Given the description of an element on the screen output the (x, y) to click on. 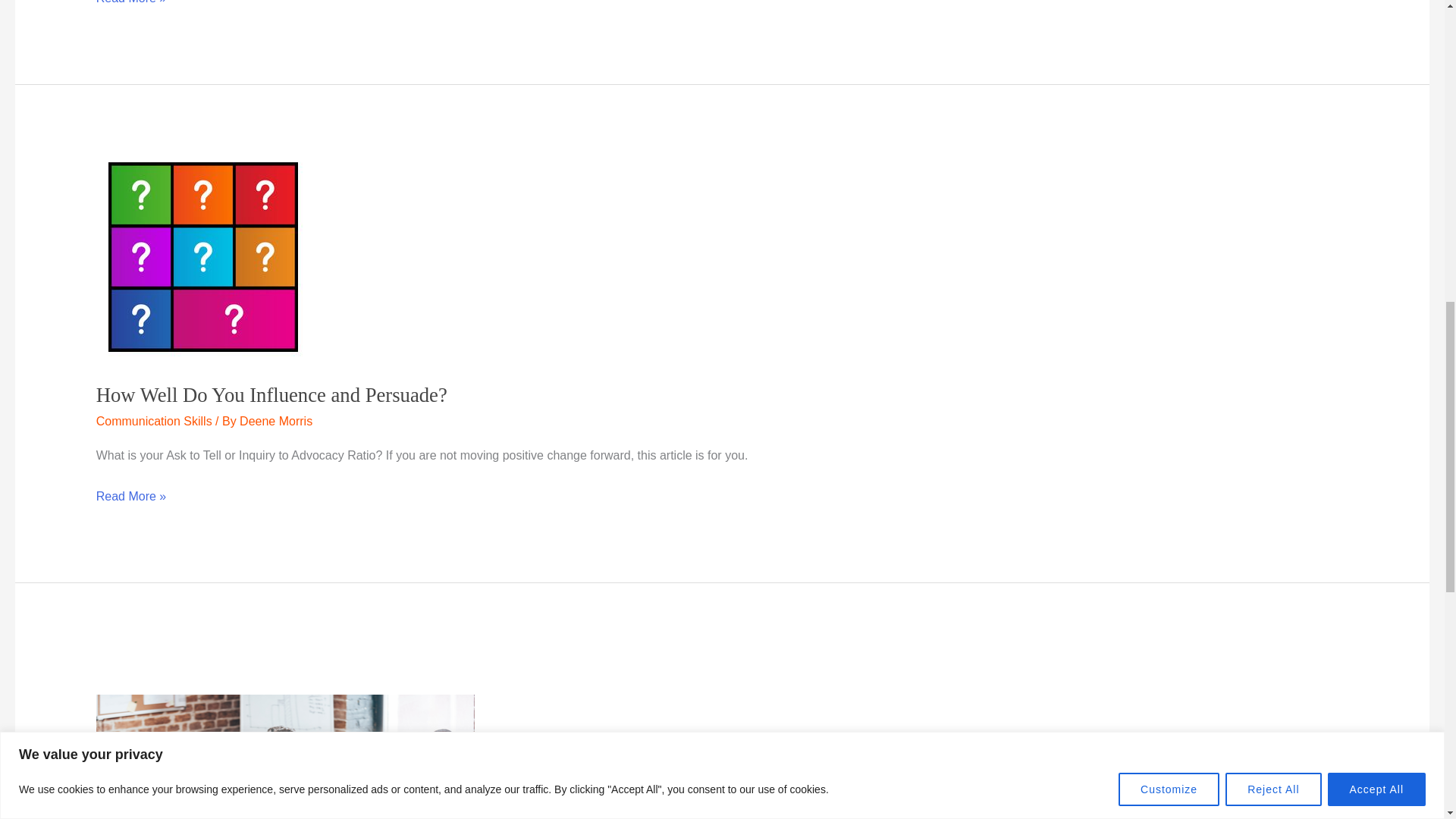
View all posts by Deene Morris (276, 420)
